Given the description of an element on the screen output the (x, y) to click on. 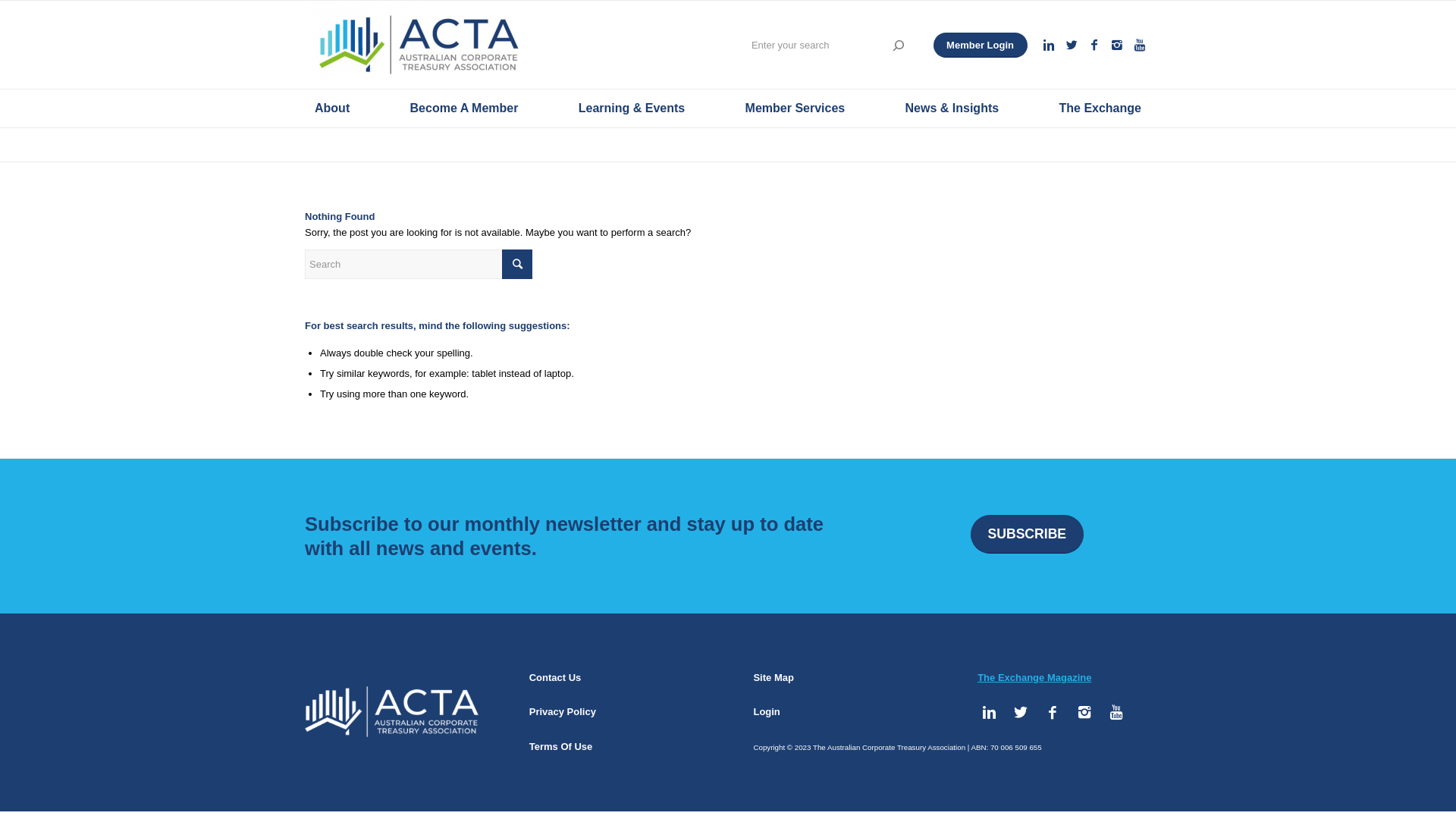
Login Element type: text (766, 711)
Linkedin Element type: hover (1048, 44)
Privacy Policy Element type: text (562, 711)
Contact Us Element type: text (555, 677)
News & Insights Element type: text (952, 108)
Facebook Element type: hover (1093, 44)
Instagram Element type: hover (1116, 44)
Instagram Element type: hover (1084, 712)
Learning & Events Element type: text (631, 108)
Youtube Element type: hover (1115, 712)
Terms Of Use Element type: text (561, 746)
ACTA_Logo_REV_Tight Element type: hover (391, 711)
Youtube Element type: hover (1139, 44)
The Exchange Element type: text (1099, 108)
Twitter Element type: hover (1020, 712)
Facebook Element type: hover (1052, 712)
About Element type: text (331, 108)
Site Map Element type: text (773, 677)
Member Services Element type: text (795, 108)
Twitter Element type: hover (1071, 44)
Member Login Element type: text (980, 44)
The Exchange Magazine Element type: text (1034, 677)
SUBSCRIBE Element type: text (1026, 533)
Become A Member Element type: text (464, 108)
Linkedin Element type: hover (988, 712)
